Given the description of an element on the screen output the (x, y) to click on. 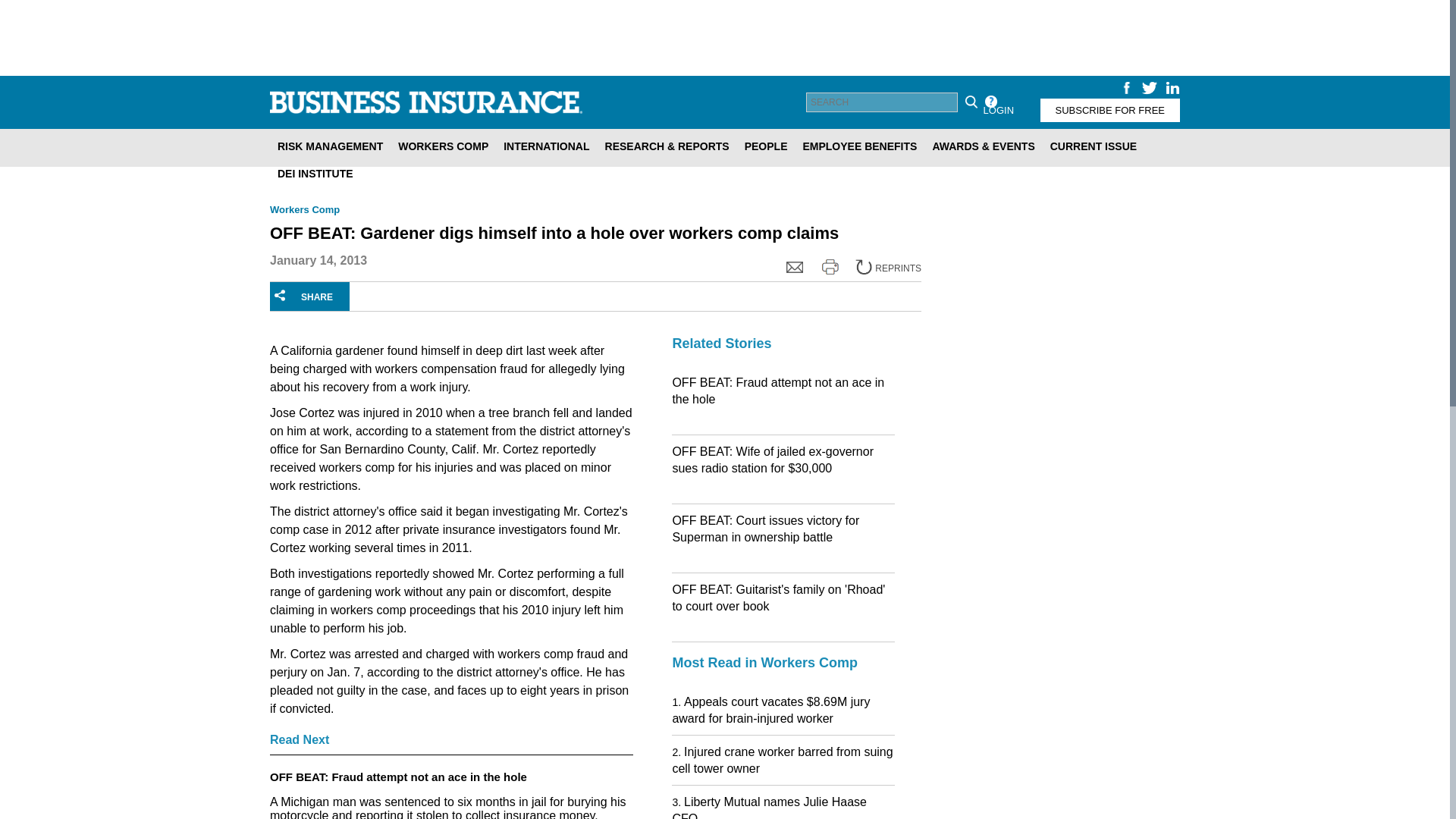
PEOPLE (765, 145)
SUBSCRIBE FOR FREE (1110, 110)
RISK MANAGEMENT (329, 145)
Help (990, 101)
INTERNATIONAL (546, 145)
LOGIN (998, 110)
WORKERS COMP (443, 145)
